Given the description of an element on the screen output the (x, y) to click on. 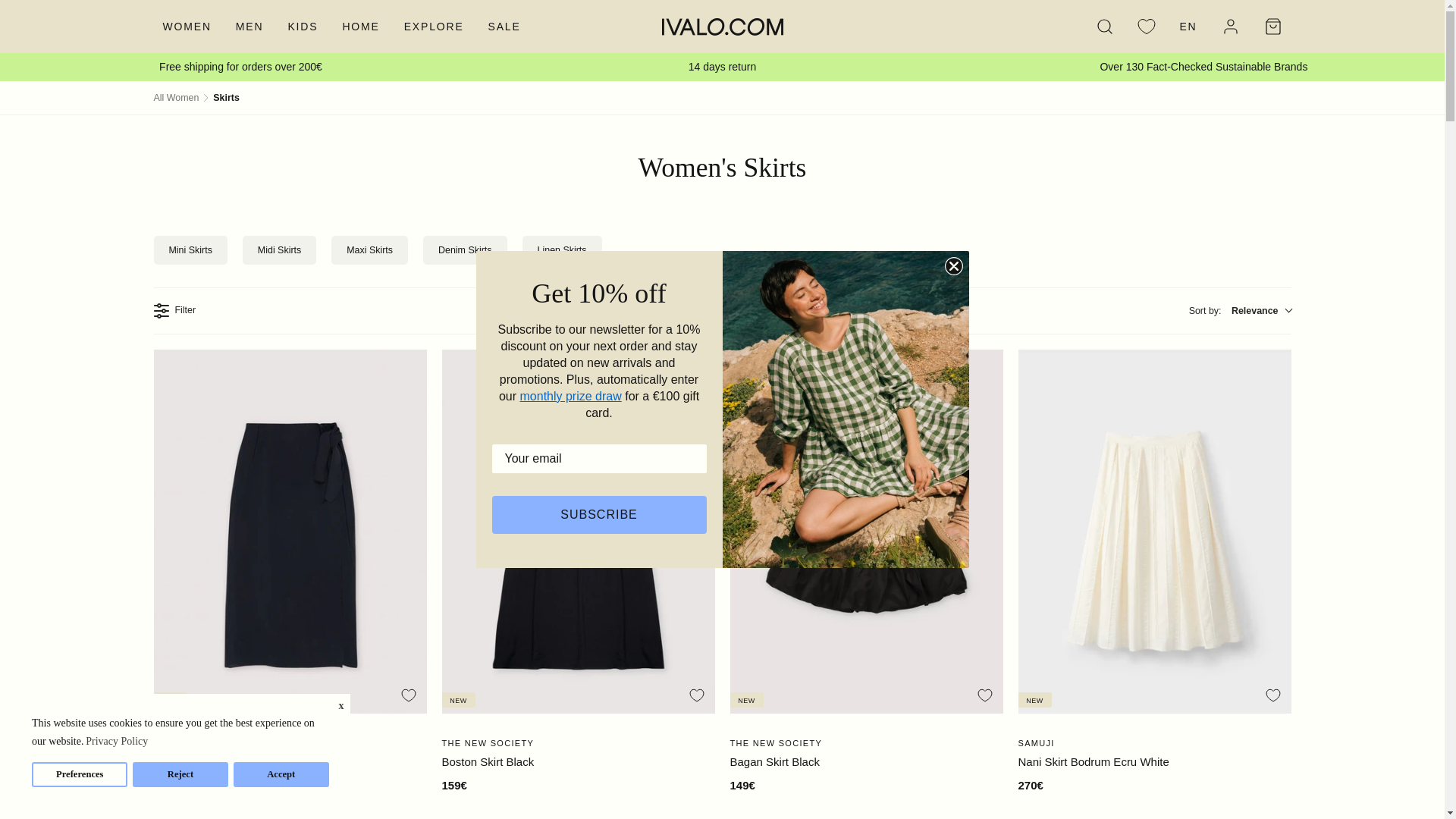
HOME (360, 26)
EN (1187, 26)
KIDS (302, 26)
EXPLORE (433, 26)
MEN (250, 26)
WOMEN (185, 26)
ACCOUNT (1229, 26)
SEARCH (1104, 26)
SALE (504, 26)
Close dialog 1 (953, 266)
